Given the description of an element on the screen output the (x, y) to click on. 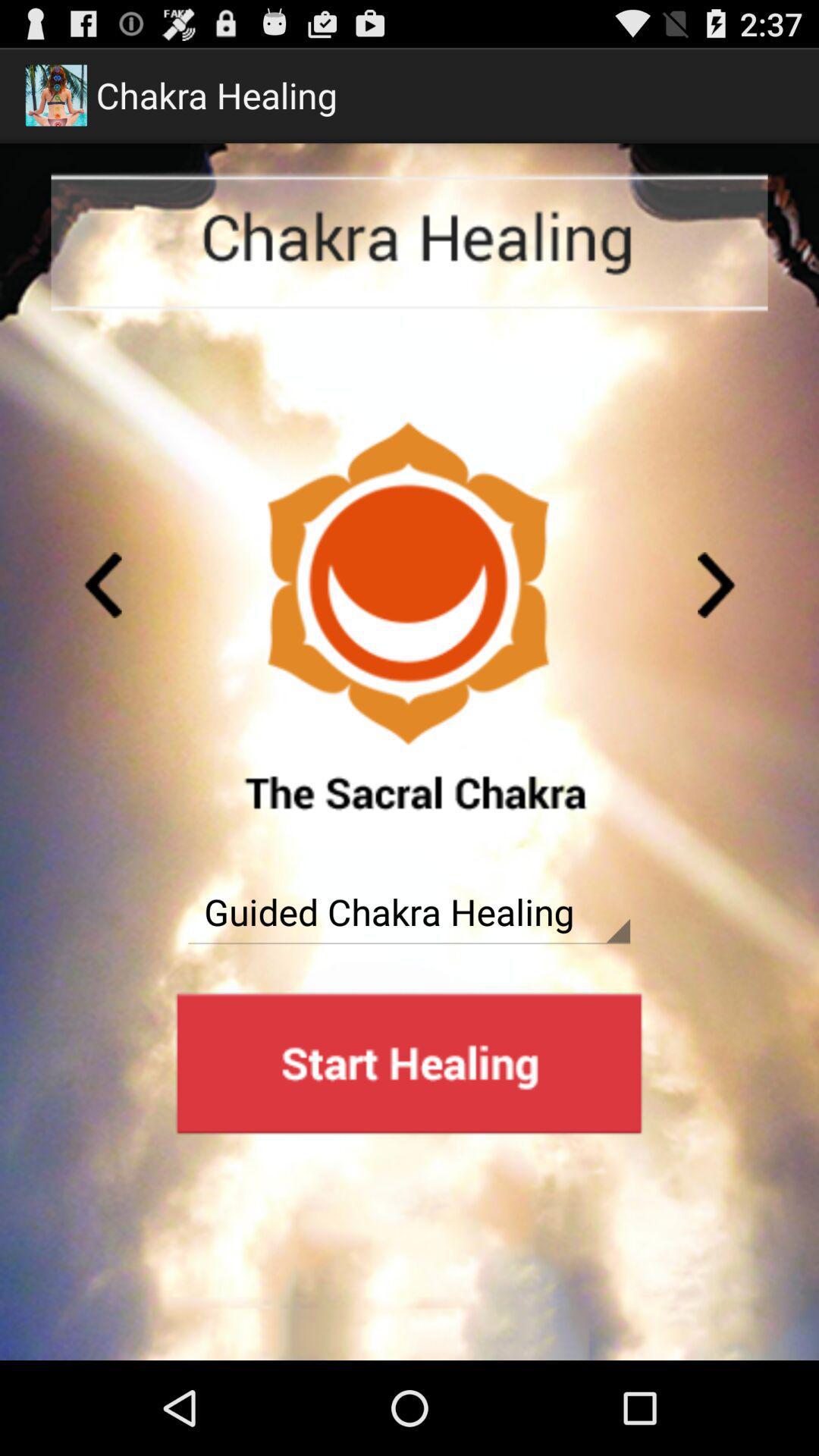
goto next (716, 585)
